Given the description of an element on the screen output the (x, y) to click on. 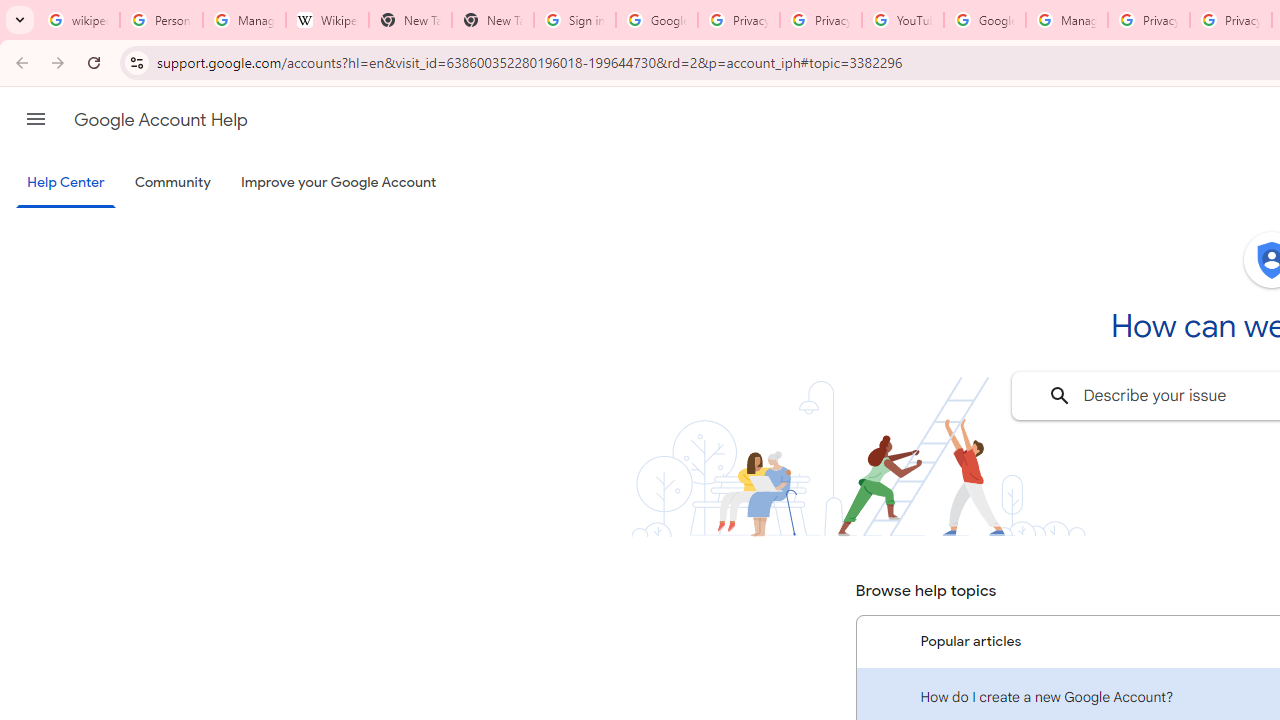
Wikipedia:Edit requests - Wikipedia (326, 20)
Help Center (65, 183)
Google Account Help (984, 20)
New Tab (492, 20)
Sign in - Google Accounts (574, 20)
Community (171, 183)
Personalization & Google Search results - Google Search Help (161, 20)
Improve your Google Account (339, 183)
